Given the description of an element on the screen output the (x, y) to click on. 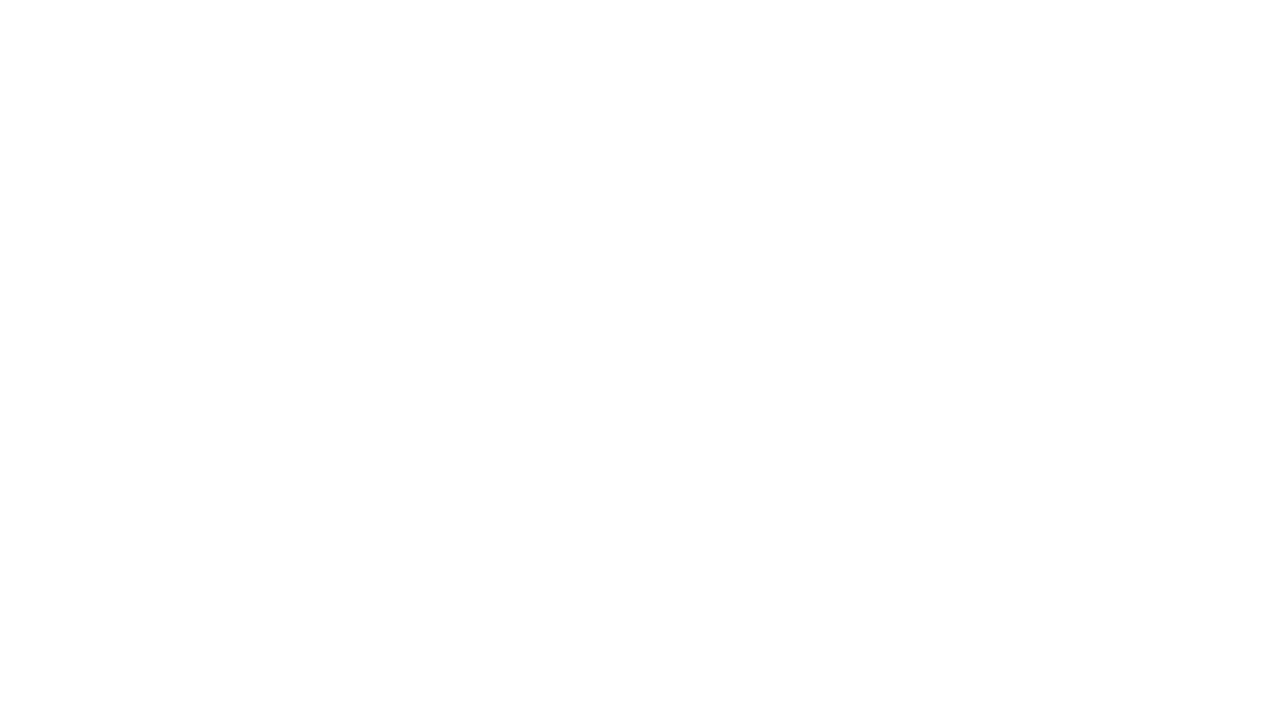
Match half/full width forms (91, 38)
Find whole words only (79, 20)
